Given the description of an element on the screen output the (x, y) to click on. 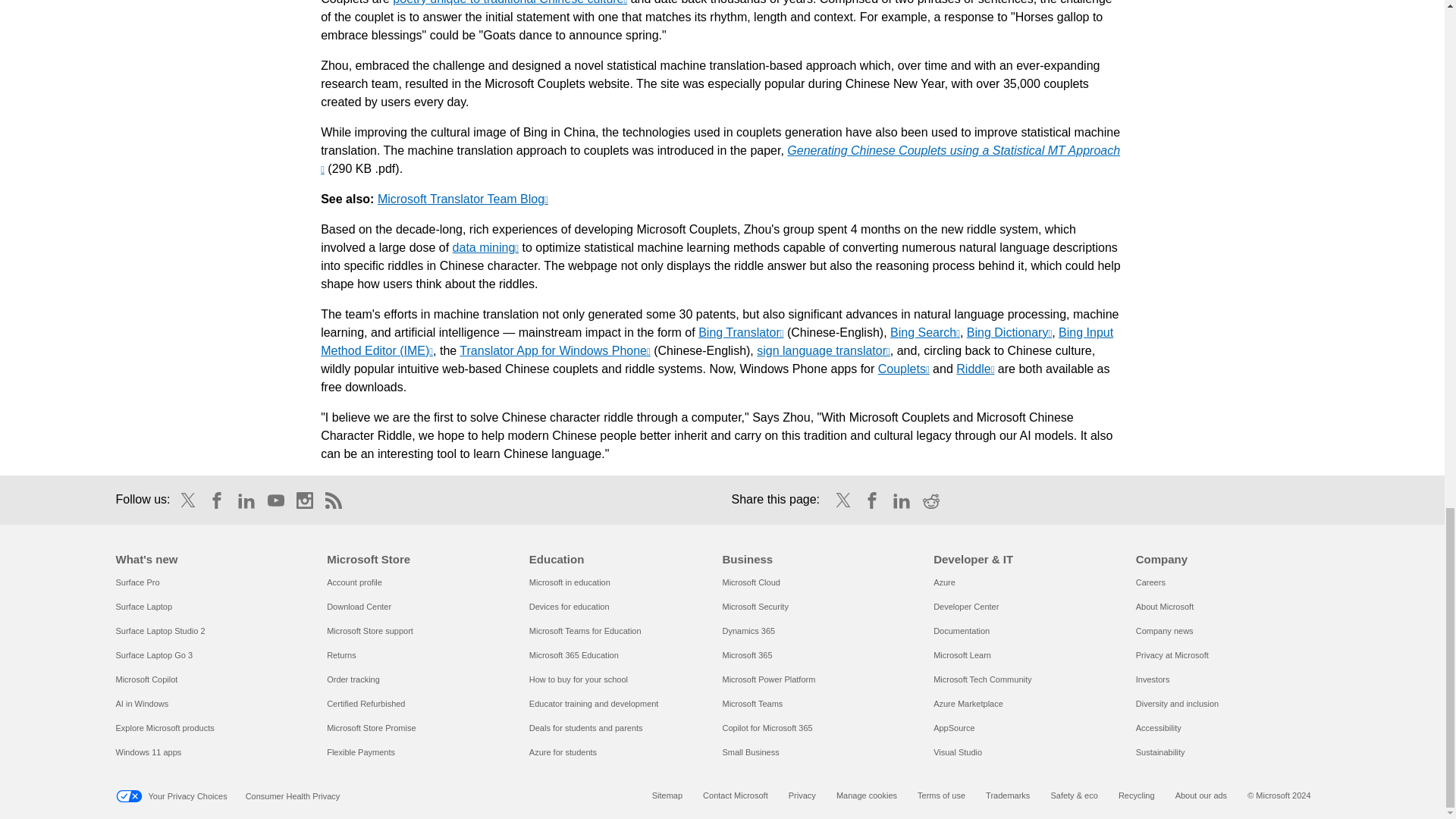
Generating Chinese Couplets using a Statistical MT Approach (719, 159)
Bing (924, 332)
poetry unique to traditional Chinese culture (510, 2)
Data Mining and Management research at Microsoft (485, 246)
Microsoft Translator Team Blog (462, 198)
Bing Dictionary (1008, 332)
Bing Translator (740, 332)
